Given the description of an element on the screen output the (x, y) to click on. 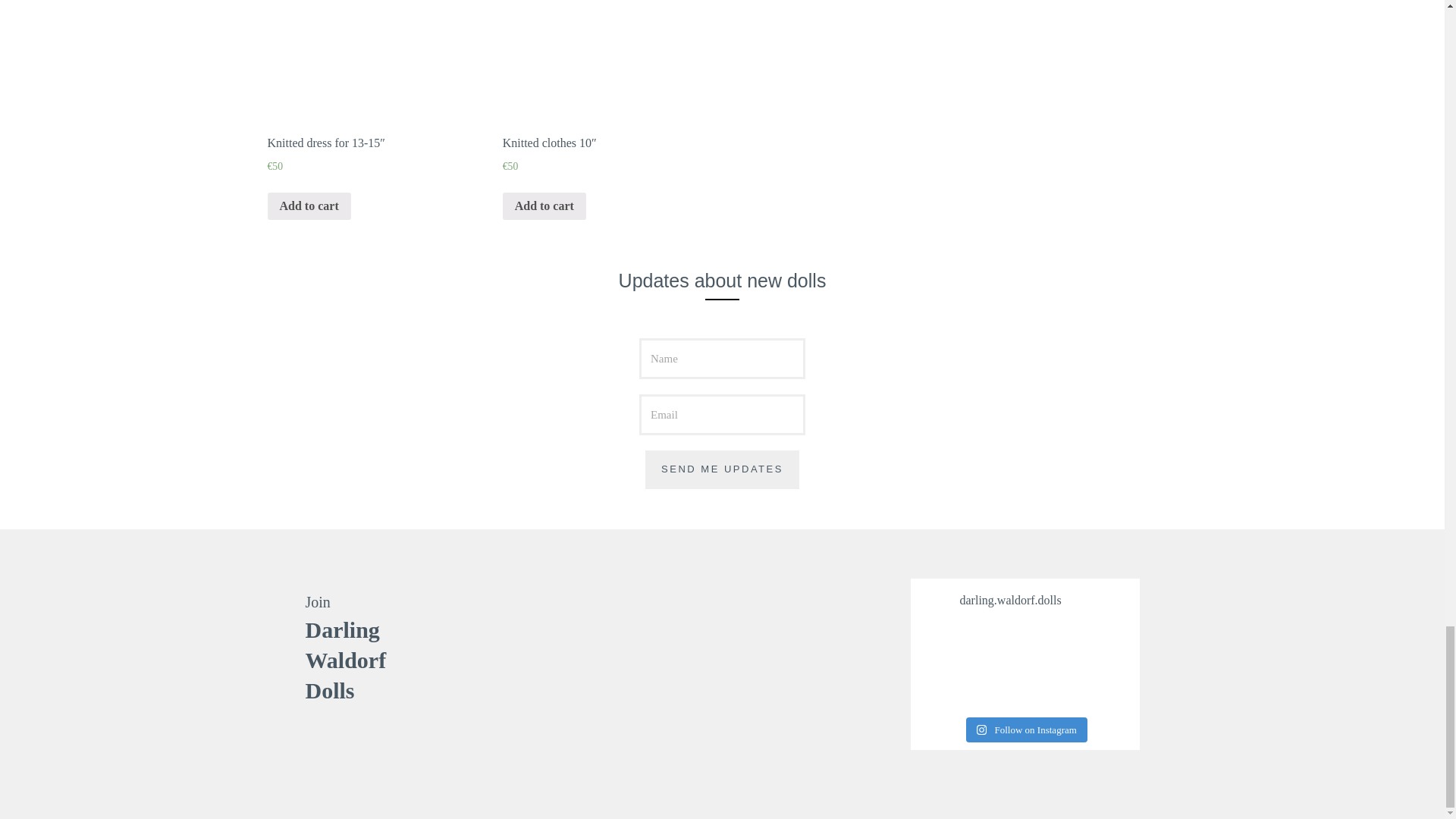
Send me updates (721, 469)
